Given the description of an element on the screen output the (x, y) to click on. 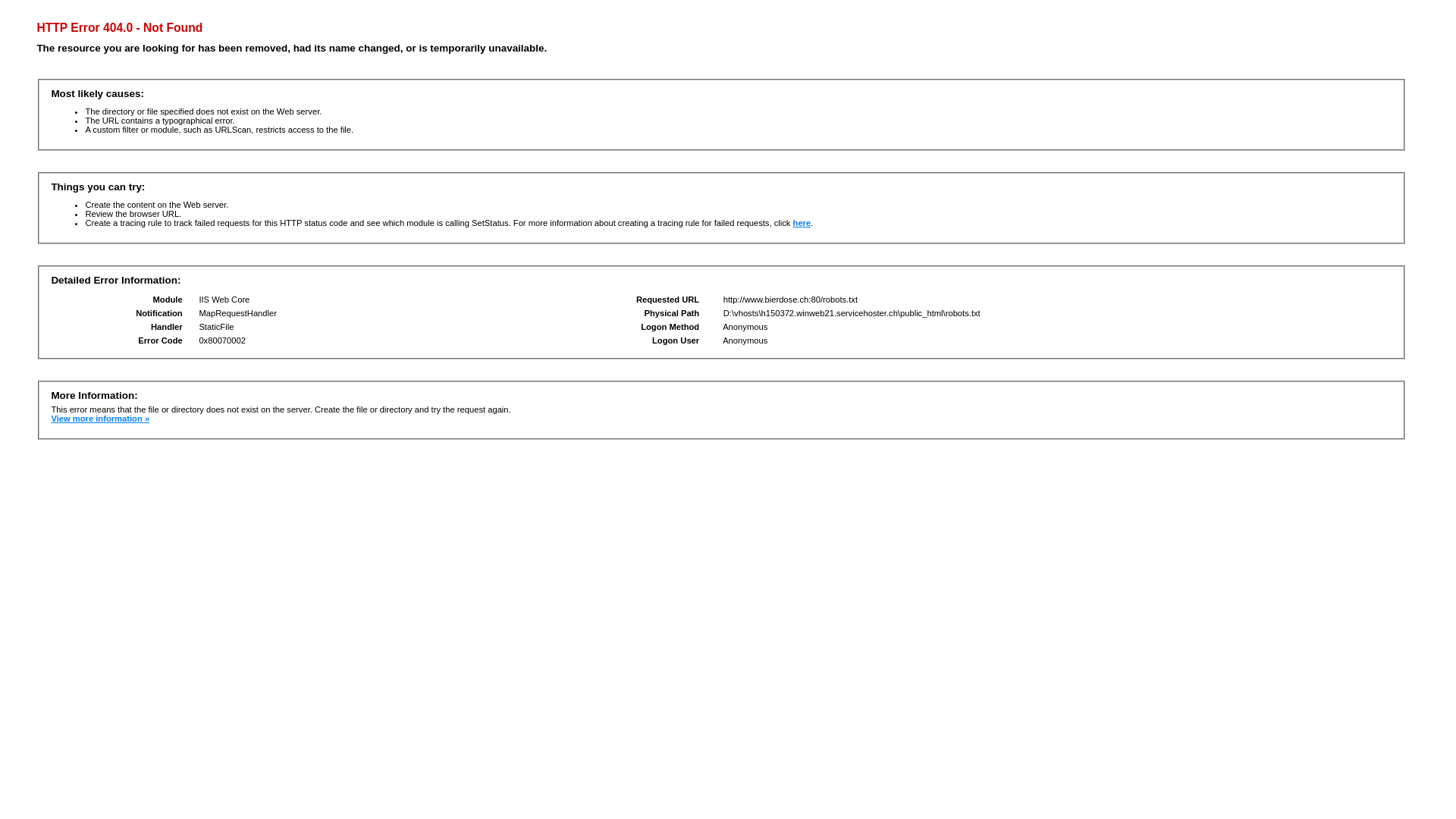
here Element type: text (802, 222)
